Given the description of an element on the screen output the (x, y) to click on. 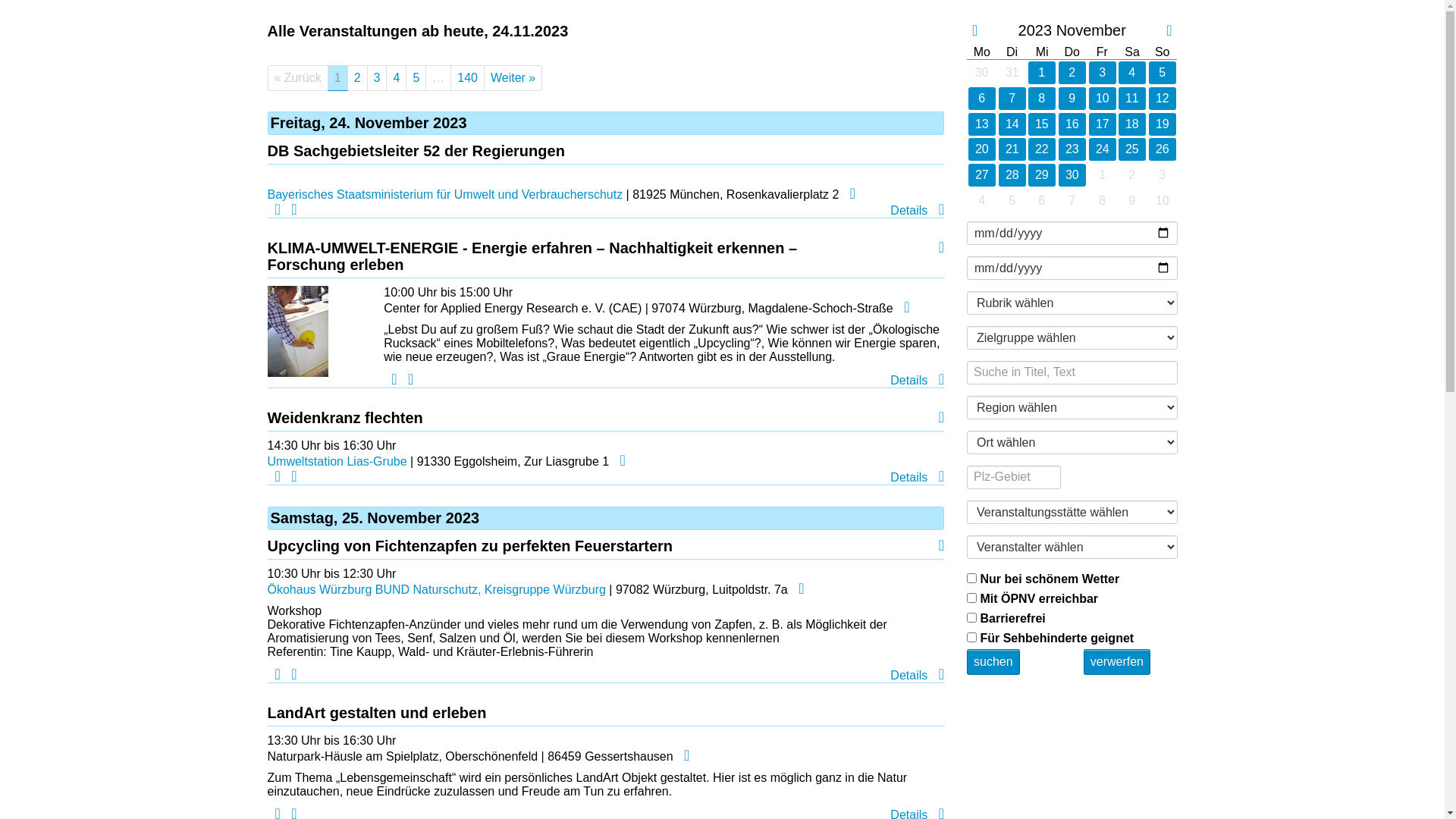
31 Element type: text (1012, 72)
https://wuerzburg.bund-naturschutz.de/veranstaltungen Element type: hover (937, 545)
4 Element type: text (395, 78)
Termin als PDF Element type: hover (289, 476)
25 Element type: text (1131, 149)
23 Element type: text (1071, 149)
Termin drucken Element type: hover (272, 476)
Details Element type: text (917, 674)
Veranstaltungsort auf Lageplan Element type: hover (796, 589)
Veranstaltungsort auf Lageplan Element type: hover (902, 307)
18 Element type: text (1131, 123)
verwerfen Element type: text (1116, 661)
14 Element type: text (1012, 123)
5 Element type: text (1162, 72)
140 Element type: text (467, 78)
9 Element type: text (1131, 200)
Umweltstation Lias-Grube Element type: text (336, 461)
6 Element type: text (981, 98)
17 Element type: text (1102, 123)
5 Element type: text (415, 78)
4 Element type: text (981, 200)
10 Element type: text (1162, 200)
4 Element type: text (1131, 72)
28 Element type: text (1012, 174)
7 Element type: text (1012, 98)
10 Element type: text (1102, 98)
29 Element type: text (1041, 174)
Veranstaltungsort auf Lageplan Element type: hover (848, 194)
https://klima-umwelt-energie.de/ Element type: hover (937, 247)
11 Element type: text (1131, 98)
24 Element type: text (1102, 149)
Details Element type: text (917, 209)
8 Element type: text (1102, 200)
27 Element type: text (981, 174)
Termin drucken Element type: hover (389, 379)
16 Element type: text (1071, 123)
30 Element type: text (981, 72)
suchen Element type: text (992, 661)
Details Element type: text (917, 476)
13 Element type: text (981, 123)
22 Element type: text (1041, 149)
http://www.umweltstation-liasgrube.de Element type: hover (937, 417)
Veranstaltungsort auf Lageplan Element type: hover (618, 461)
20 Element type: text (981, 149)
19 Element type: text (1162, 123)
Termin drucken Element type: hover (272, 209)
9 Element type: text (1071, 98)
2 Element type: text (1131, 174)
Termin drucken Element type: hover (272, 674)
8 Element type: text (1041, 98)
26 Element type: text (1162, 149)
Veranstaltungsort auf Lageplan Element type: hover (682, 755)
1 Element type: text (1041, 72)
2 Element type: text (1071, 72)
30 Element type: text (1071, 174)
5 Element type: text (1012, 200)
12 Element type: text (1162, 98)
7 Element type: text (1071, 200)
21 Element type: text (1012, 149)
Termin als PDF Element type: hover (406, 379)
3 Element type: text (377, 78)
2 Element type: text (357, 78)
Termin als PDF Element type: hover (289, 674)
Details Element type: text (917, 379)
Termin als PDF Element type: hover (289, 209)
3 Element type: text (1102, 72)
3 Element type: text (1162, 174)
1 Element type: text (1102, 174)
6 Element type: text (1041, 200)
15 Element type: text (1041, 123)
